Given the description of an element on the screen output the (x, y) to click on. 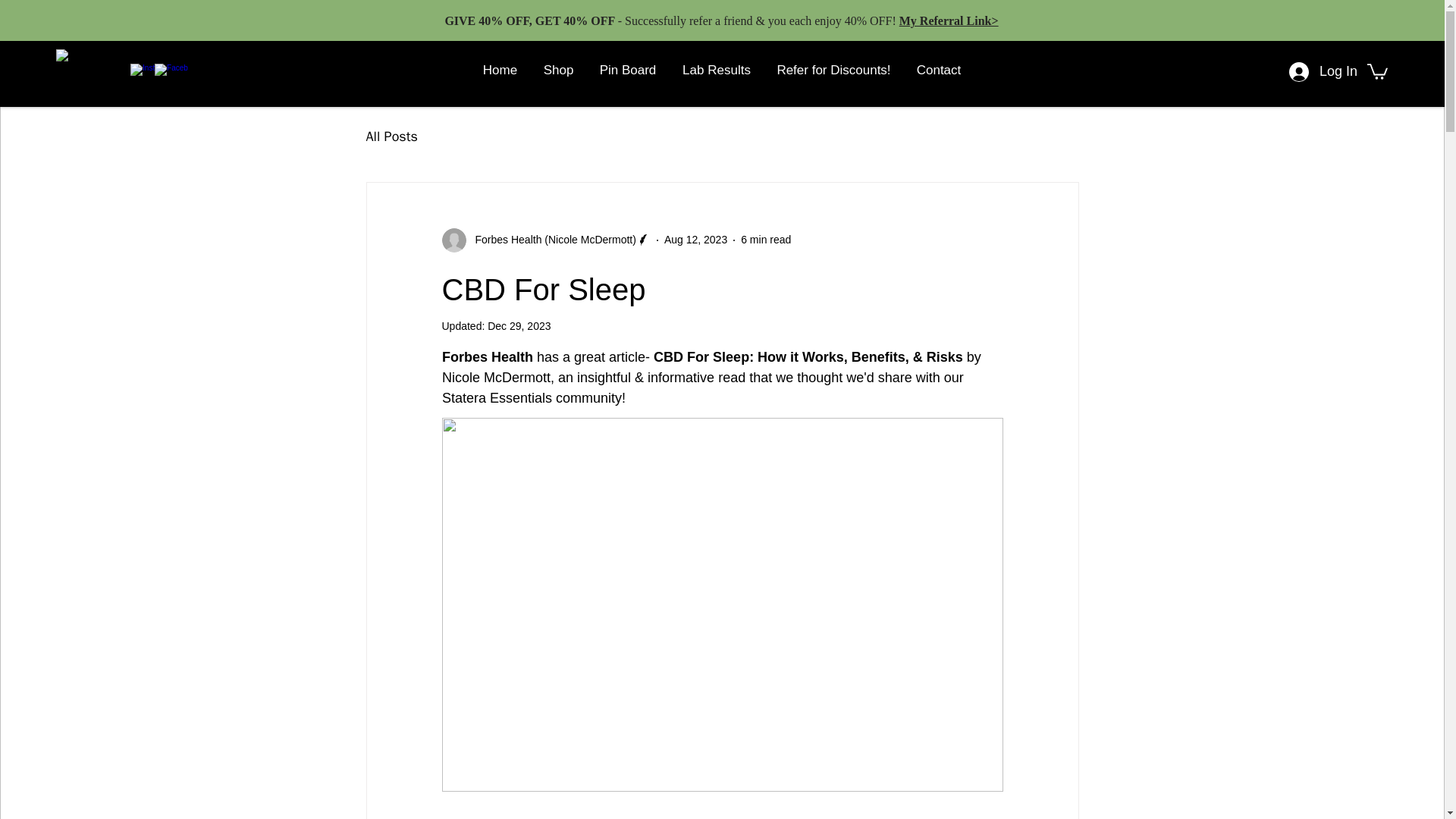
Lab Results (715, 70)
All Posts (390, 136)
Contact (939, 70)
6 min read (765, 239)
Home (500, 70)
Refer for Discounts! (834, 70)
Dec 29, 2023 (518, 326)
Pin Board (627, 70)
Shop (558, 70)
Aug 12, 2023 (694, 239)
